Given the description of an element on the screen output the (x, y) to click on. 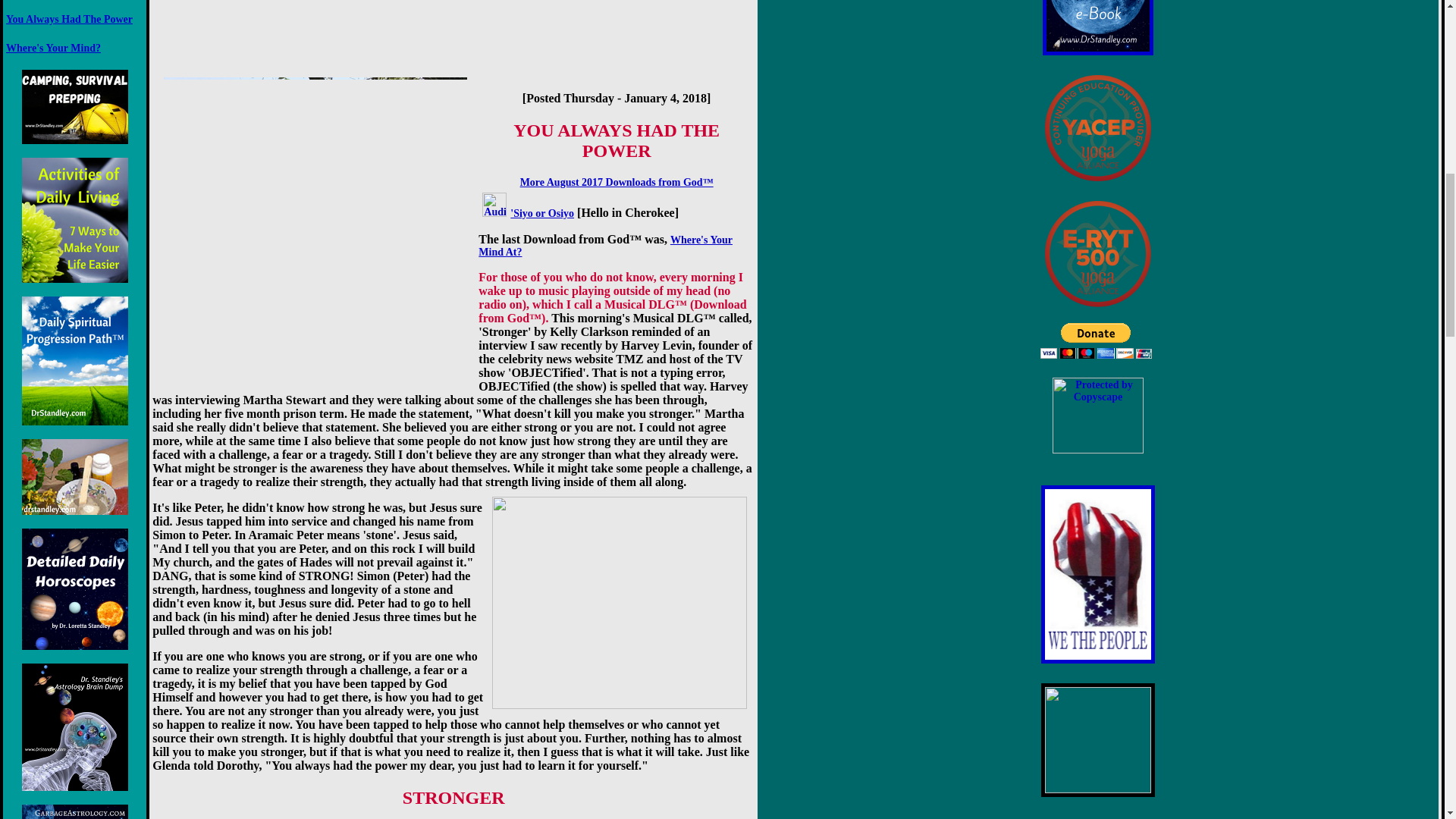
Where's Your Mind? (52, 48)
Camping, Survival and Prepping (74, 106)
Garbage Astrology - because I like my Astrology trashy. (74, 811)
You Always Had The Power (68, 19)
